Given the description of an element on the screen output the (x, y) to click on. 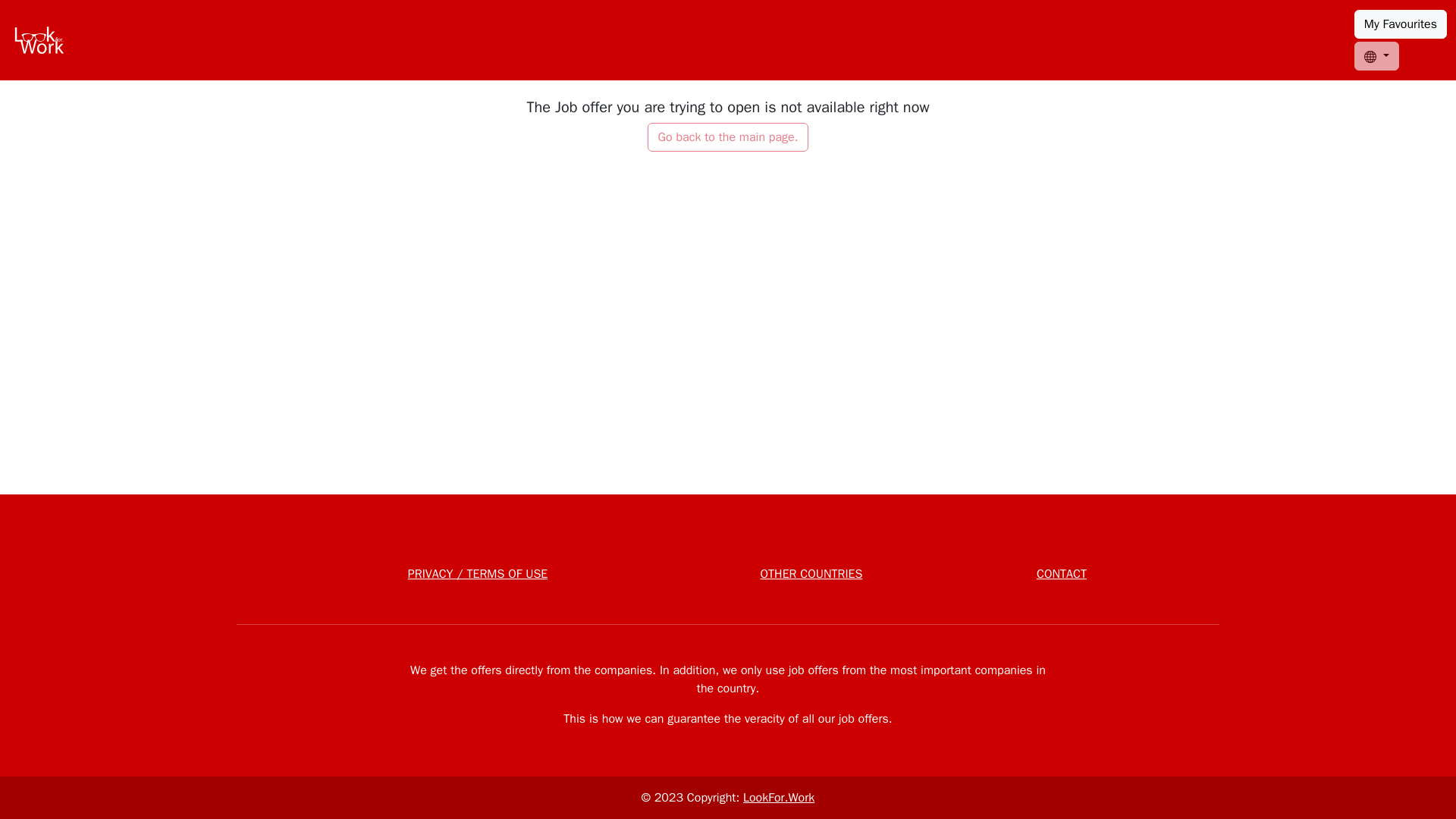
Go to home page (38, 39)
lookfor.work (38, 39)
OTHER COUNTRIES (811, 573)
Go back to the main page. (727, 136)
Go back to the main page. (727, 135)
CONTACT (1061, 573)
Contacto (1061, 573)
My Favourites (1400, 23)
Lookfor.work en el mundo (811, 573)
Go back to the main page. (727, 136)
LookFor.Work (777, 797)
